Given the description of an element on the screen output the (x, y) to click on. 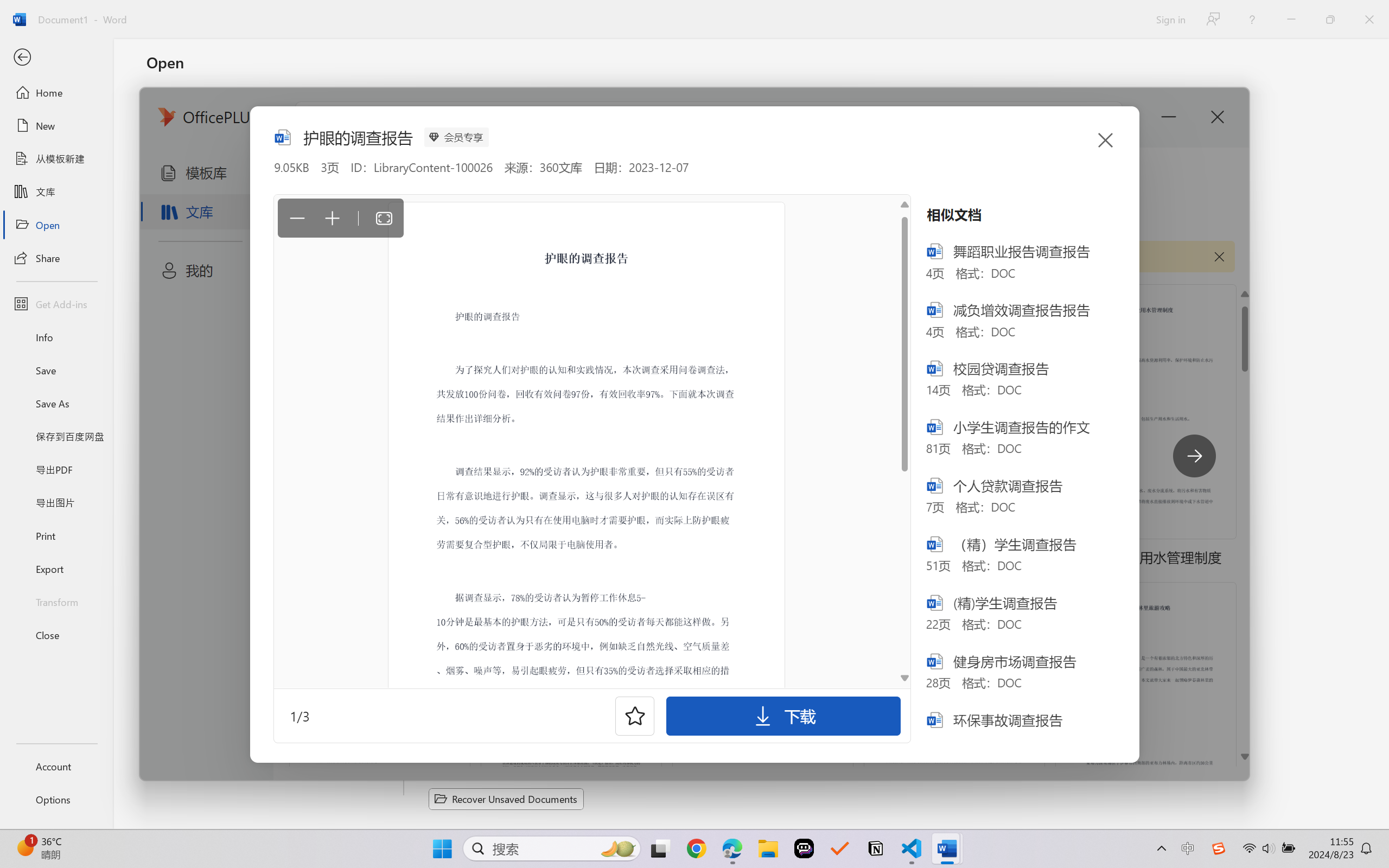
Info (56, 337)
Get Add-ins (56, 303)
Export (56, 568)
